Given the description of an element on the screen output the (x, y) to click on. 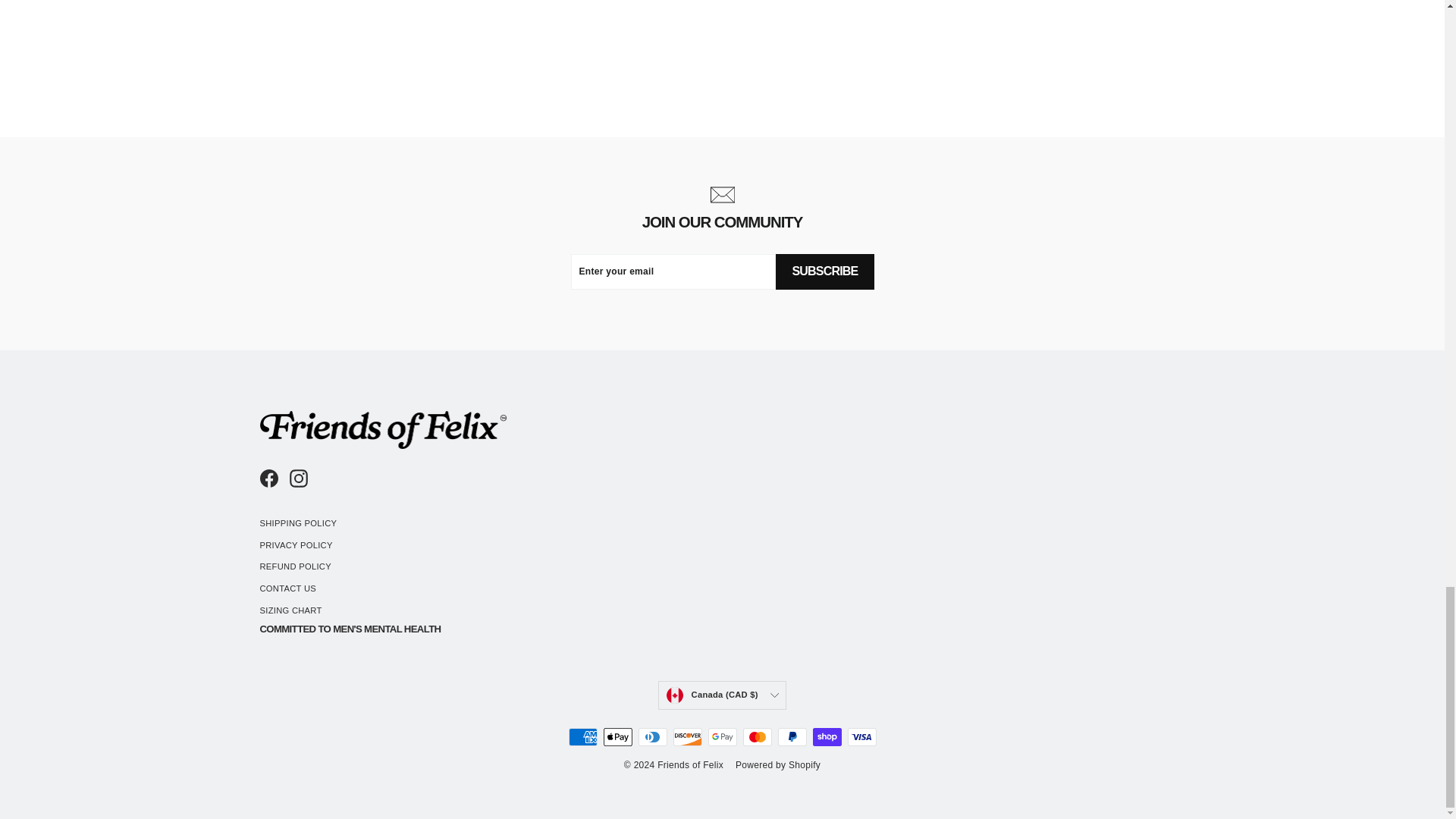
Diners Club (652, 737)
Friends of Felix on Facebook (268, 478)
Apple Pay (617, 737)
Mastercard (756, 737)
PayPal (791, 737)
Discover (686, 737)
Friends of Felix on Instagram (298, 478)
American Express (582, 737)
Google Pay (721, 737)
